Given the description of an element on the screen output the (x, y) to click on. 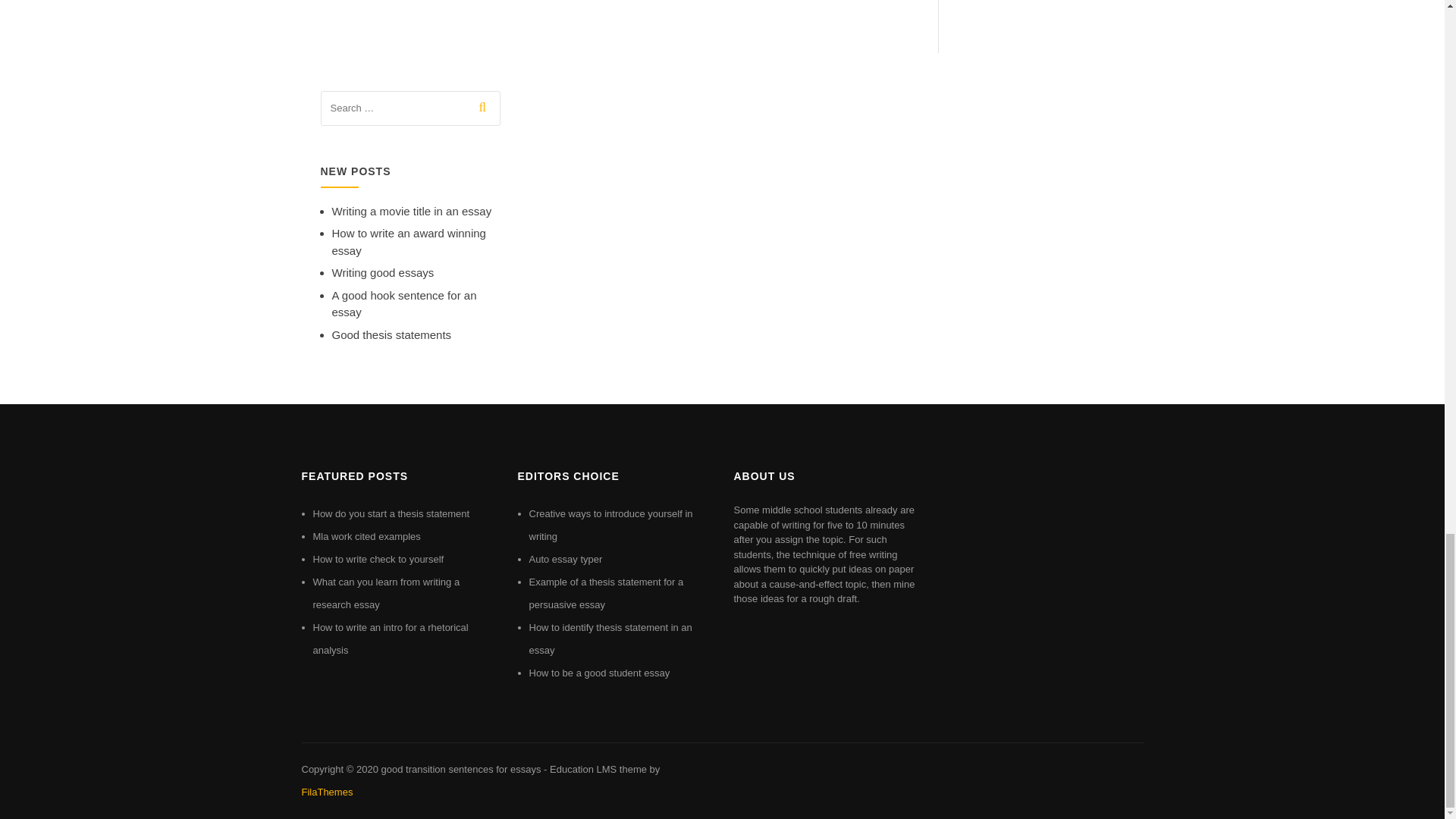
Creative ways to introduce yourself in writing (611, 524)
How to write an intro for a rhetorical analysis (390, 638)
Auto essay typer (565, 559)
Good thesis statements (391, 334)
Example of a thesis statement for a persuasive essay (606, 593)
How to be a good student essay (599, 672)
Writing a movie title in an essay (411, 210)
Writing good essays (382, 272)
A good hook sentence for an essay (404, 304)
How to identify thesis statement in an essay (611, 638)
good transition sentences for essays (460, 768)
good transition sentences for essays (460, 768)
How to write an award winning essay (408, 241)
What can you learn from writing a research essay (386, 593)
Mla work cited examples (366, 536)
